Given the description of an element on the screen output the (x, y) to click on. 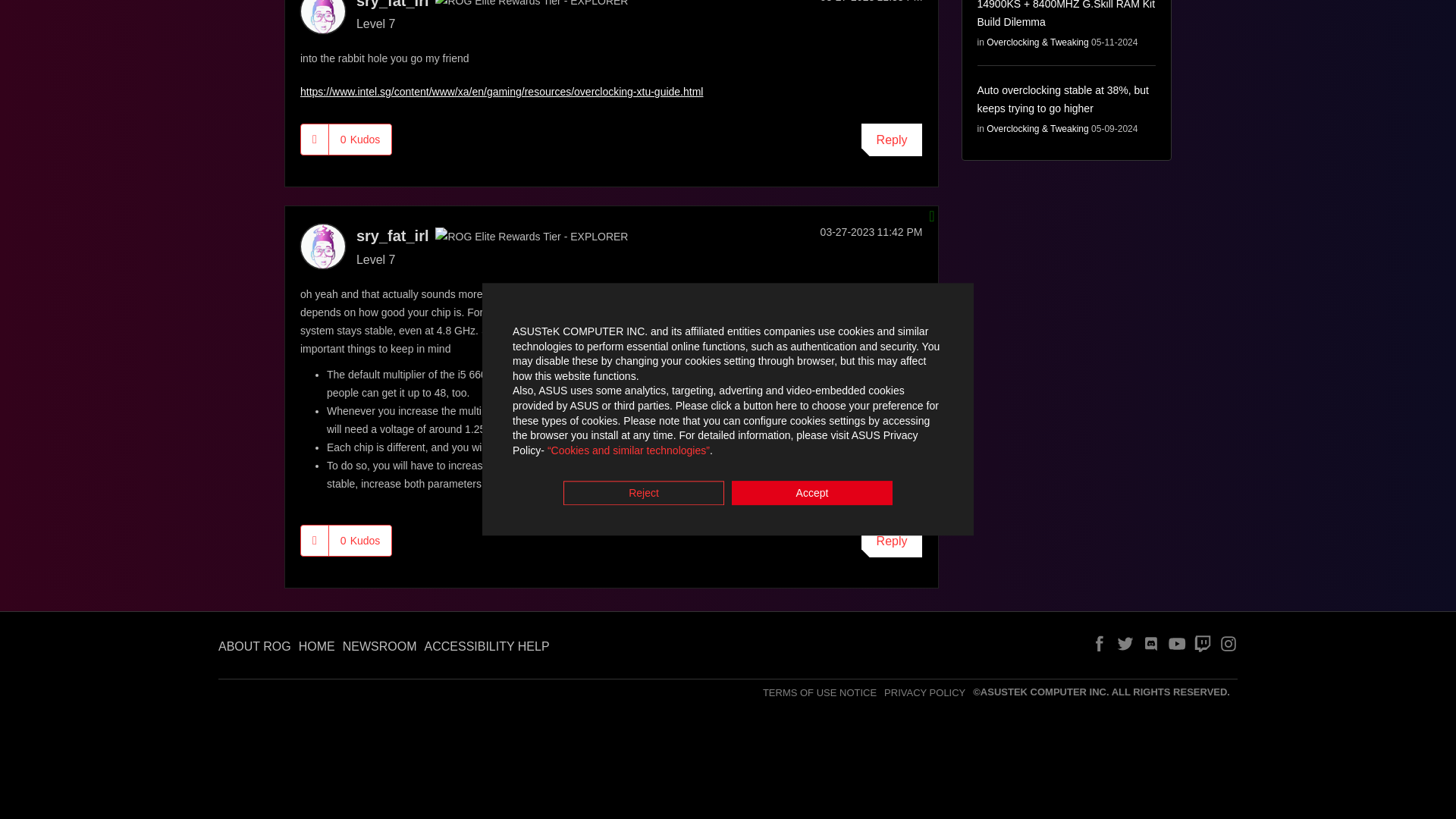
ROG Elite Rewards Tier - EXPLORER (531, 4)
